Given the description of an element on the screen output the (x, y) to click on. 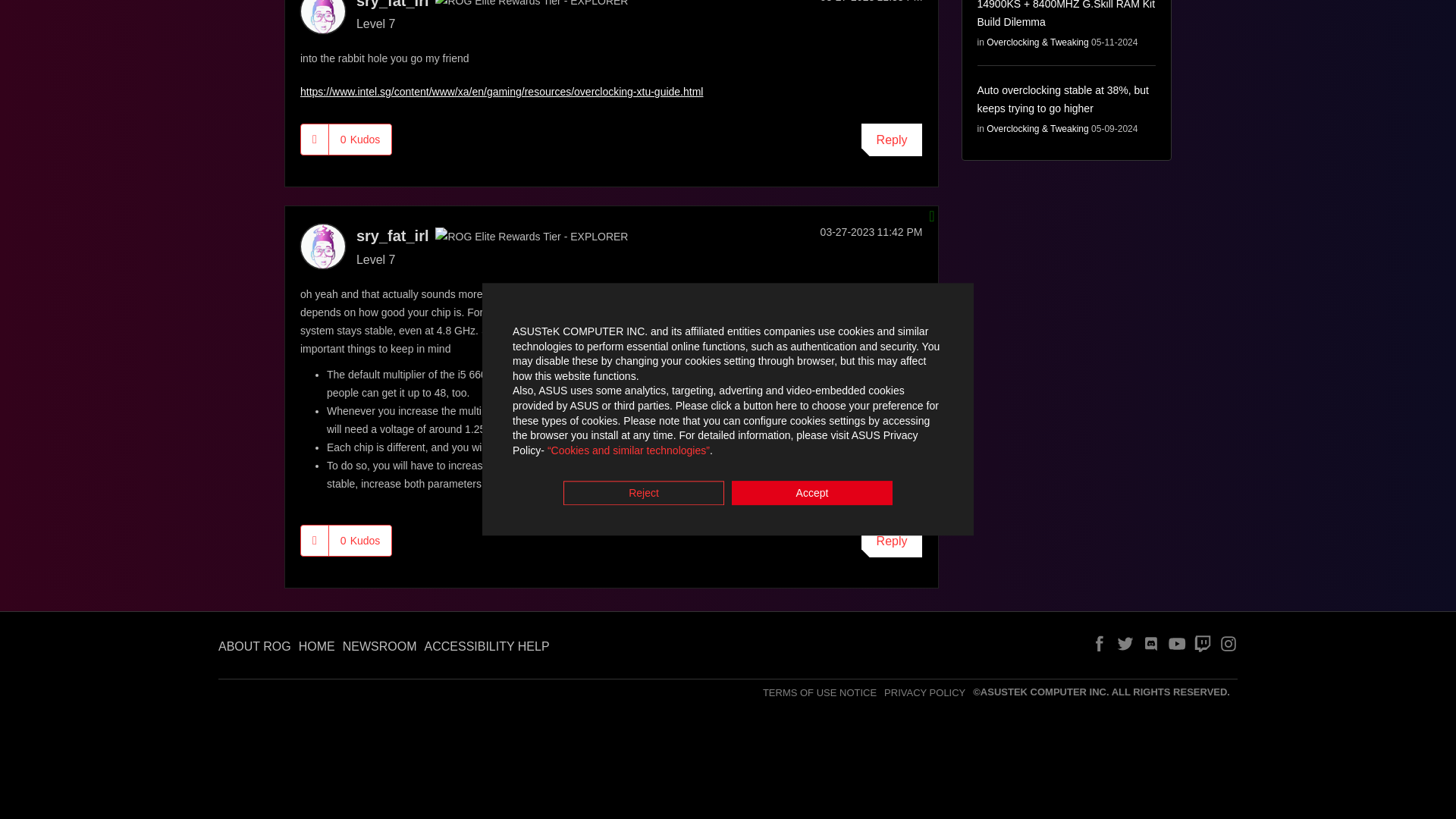
ROG Elite Rewards Tier - EXPLORER (531, 4)
